Given the description of an element on the screen output the (x, y) to click on. 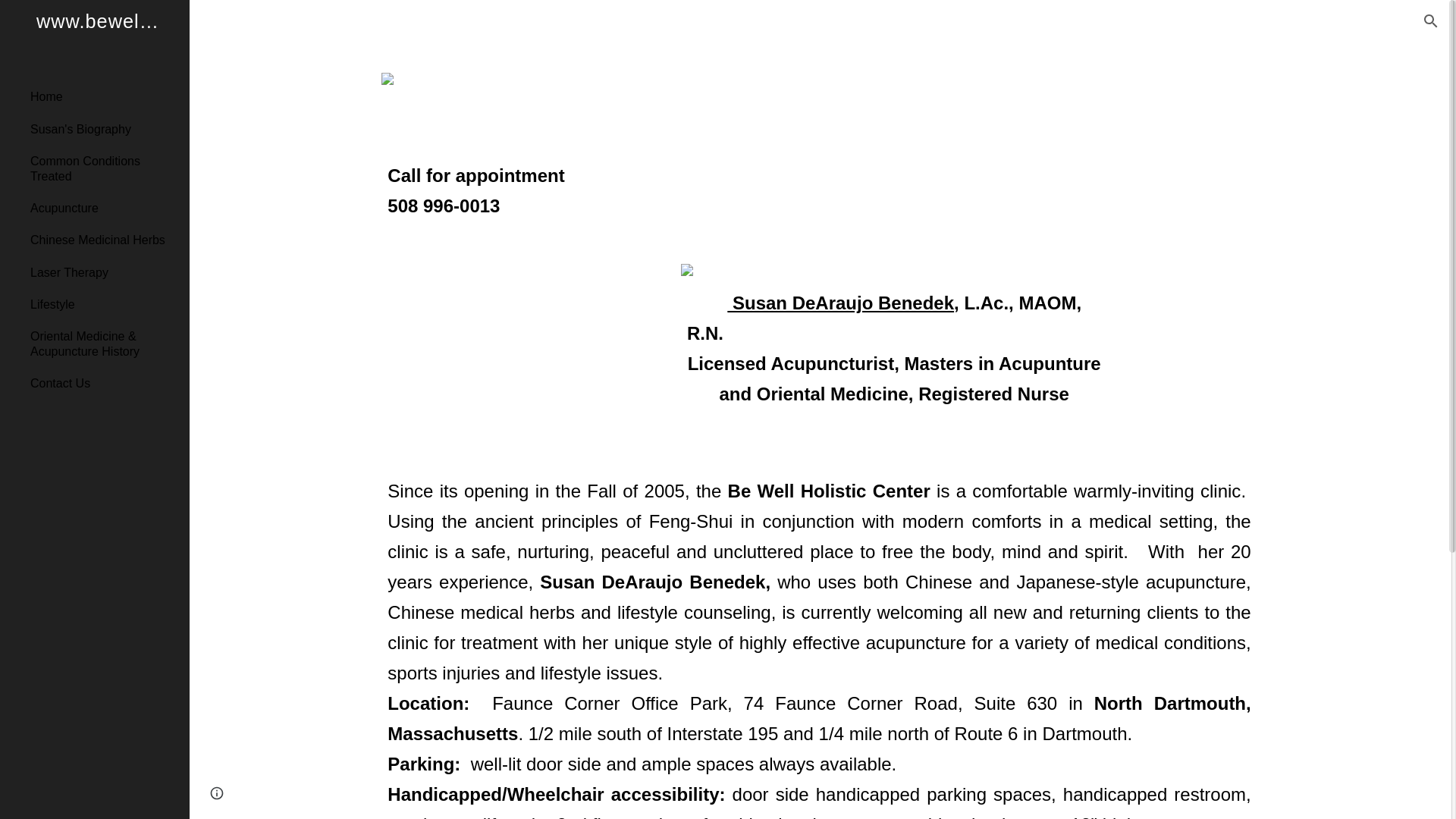
usan DeAraujo Benedek (848, 305)
Susan's Biography (103, 128)
Acupuncture (103, 207)
Chinese Medicinal Herbs (103, 240)
Laser Therapy (103, 272)
Lifestyle (103, 304)
Contact Us (103, 383)
Home (103, 97)
www.bewellholistic.com (94, 40)
Common Conditions Treated (103, 168)
